Given the description of an element on the screen output the (x, y) to click on. 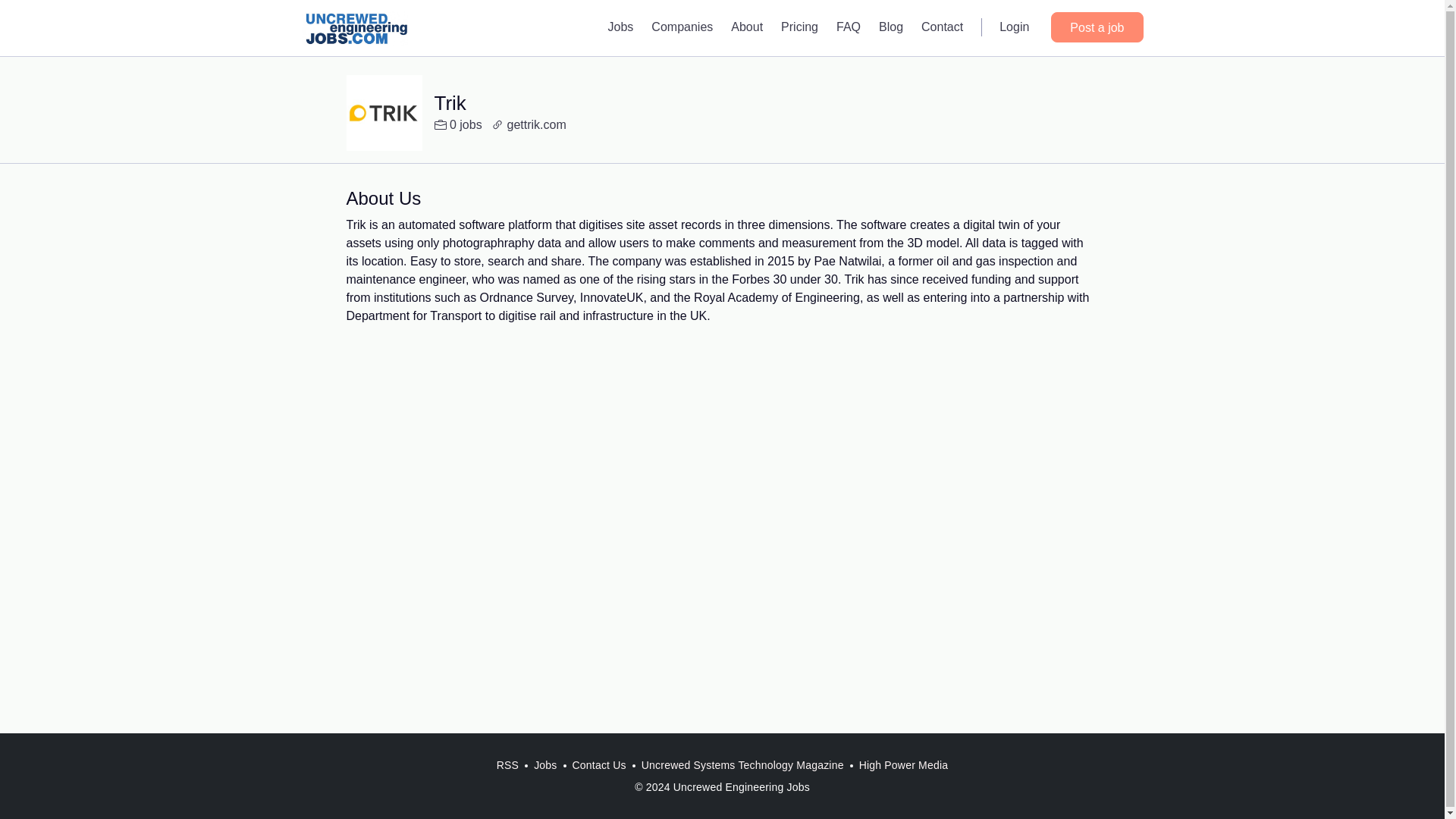
0 jobs (457, 125)
RSS (507, 765)
Jobs (544, 765)
Login (1014, 26)
Post a job (1096, 27)
Contact Us (598, 765)
Uncrewed Systems Technology Magazine (742, 765)
Jobs (620, 26)
High Power Media (903, 765)
FAQ (848, 26)
Companies (682, 26)
About (746, 26)
Blog (890, 26)
Pricing (799, 26)
Contact (942, 26)
